Given the description of an element on the screen output the (x, y) to click on. 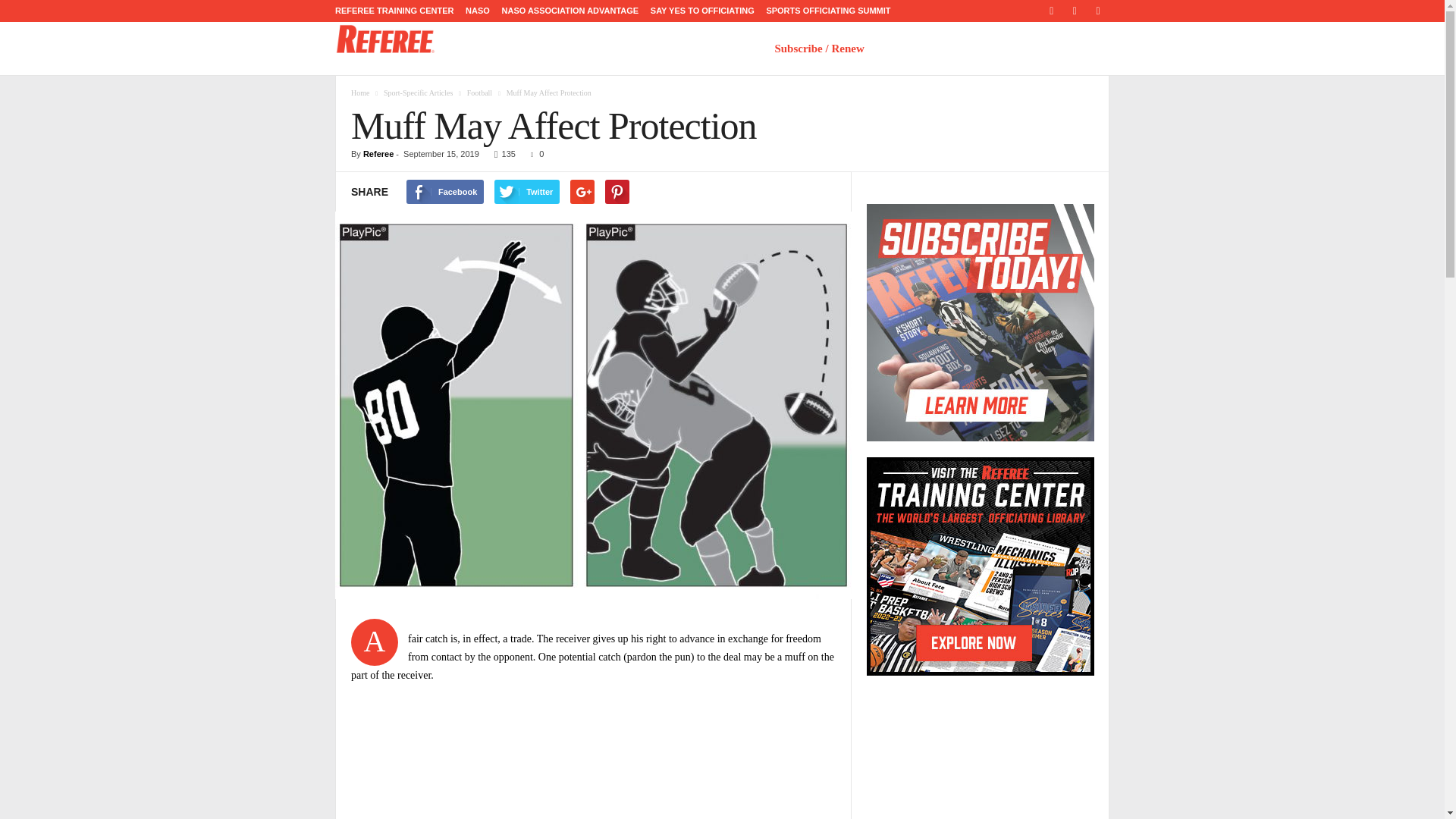
Referee (384, 38)
View all posts in Sport-Specific Articles (418, 92)
View all posts in Football (479, 92)
